Given the description of an element on the screen output the (x, y) to click on. 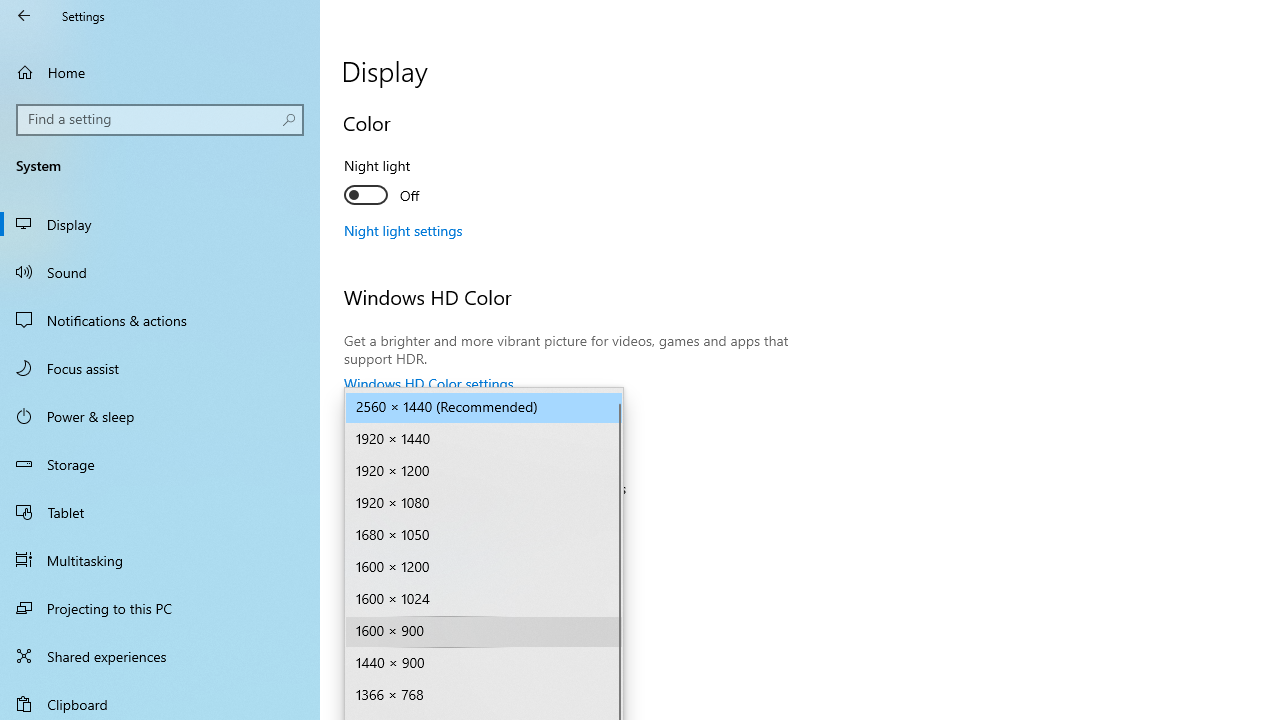
Display resolution (484, 632)
